Given the description of an element on the screen output the (x, y) to click on. 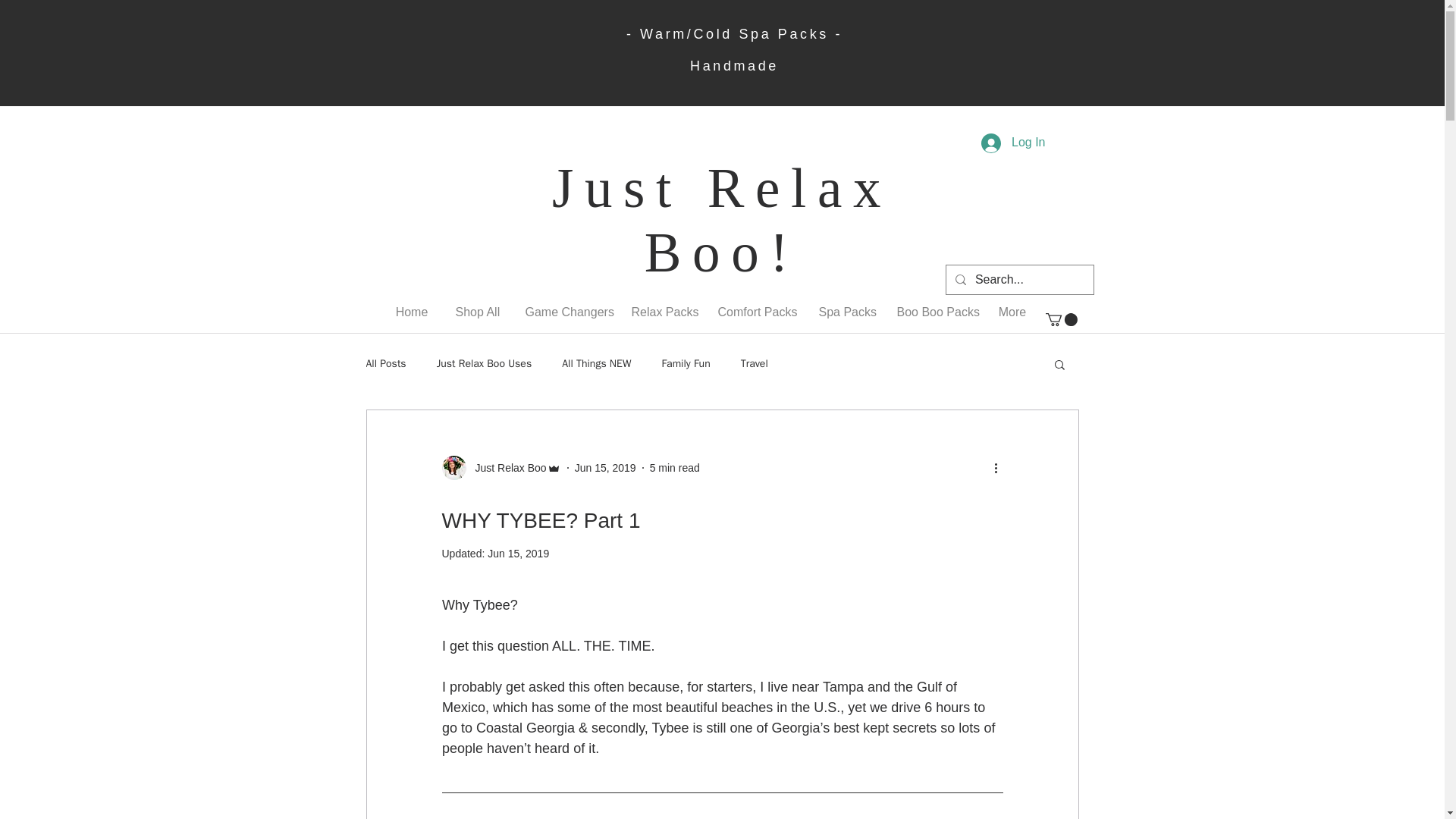
Boo Boo Packs (933, 304)
Game Changers (564, 304)
Just Relax Boo! (721, 220)
Just Relax Boo (505, 467)
Travel (754, 364)
Jun 15, 2019 (517, 553)
5 min read (674, 467)
Jun 15, 2019 (605, 467)
Just Relax Boo Uses (484, 364)
Log In (1013, 143)
